Given the description of an element on the screen output the (x, y) to click on. 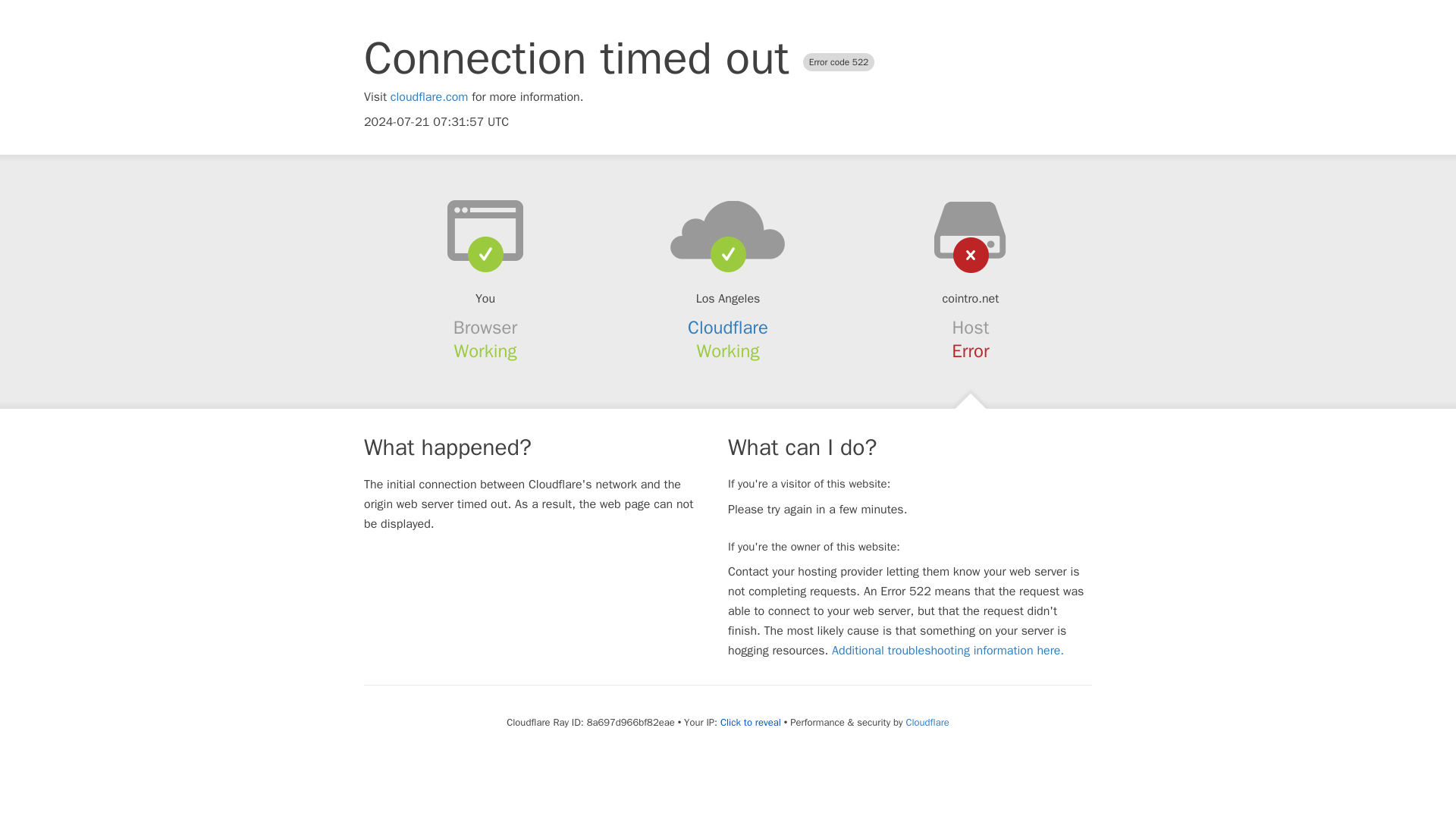
Cloudflare (727, 327)
cloudflare.com (429, 96)
Additional troubleshooting information here. (947, 650)
Cloudflare (927, 721)
Click to reveal (750, 722)
